Given the description of an element on the screen output the (x, y) to click on. 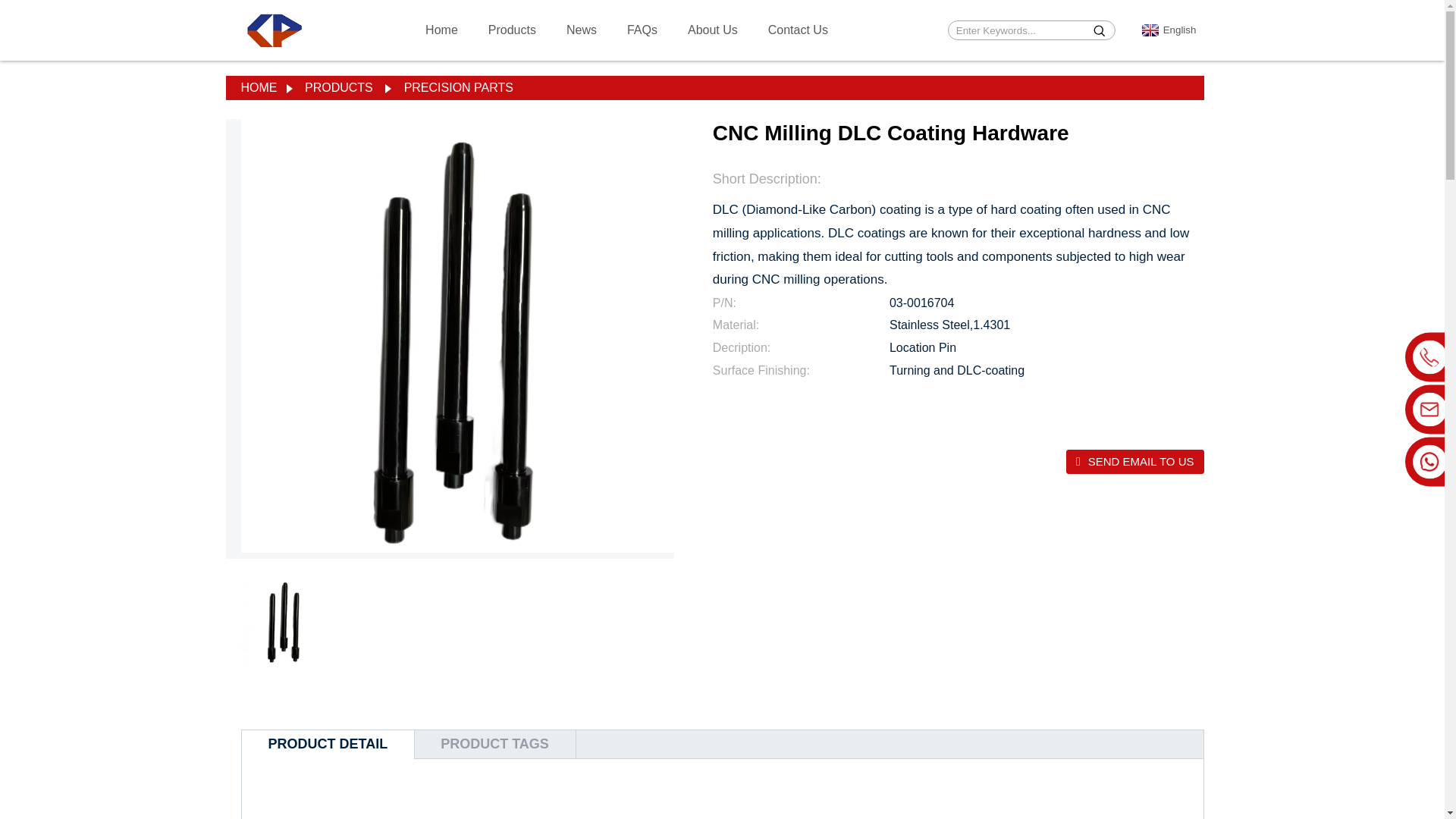
English (1171, 30)
Contact Us (797, 30)
Products (511, 30)
About Us (712, 30)
